Given the description of an element on the screen output the (x, y) to click on. 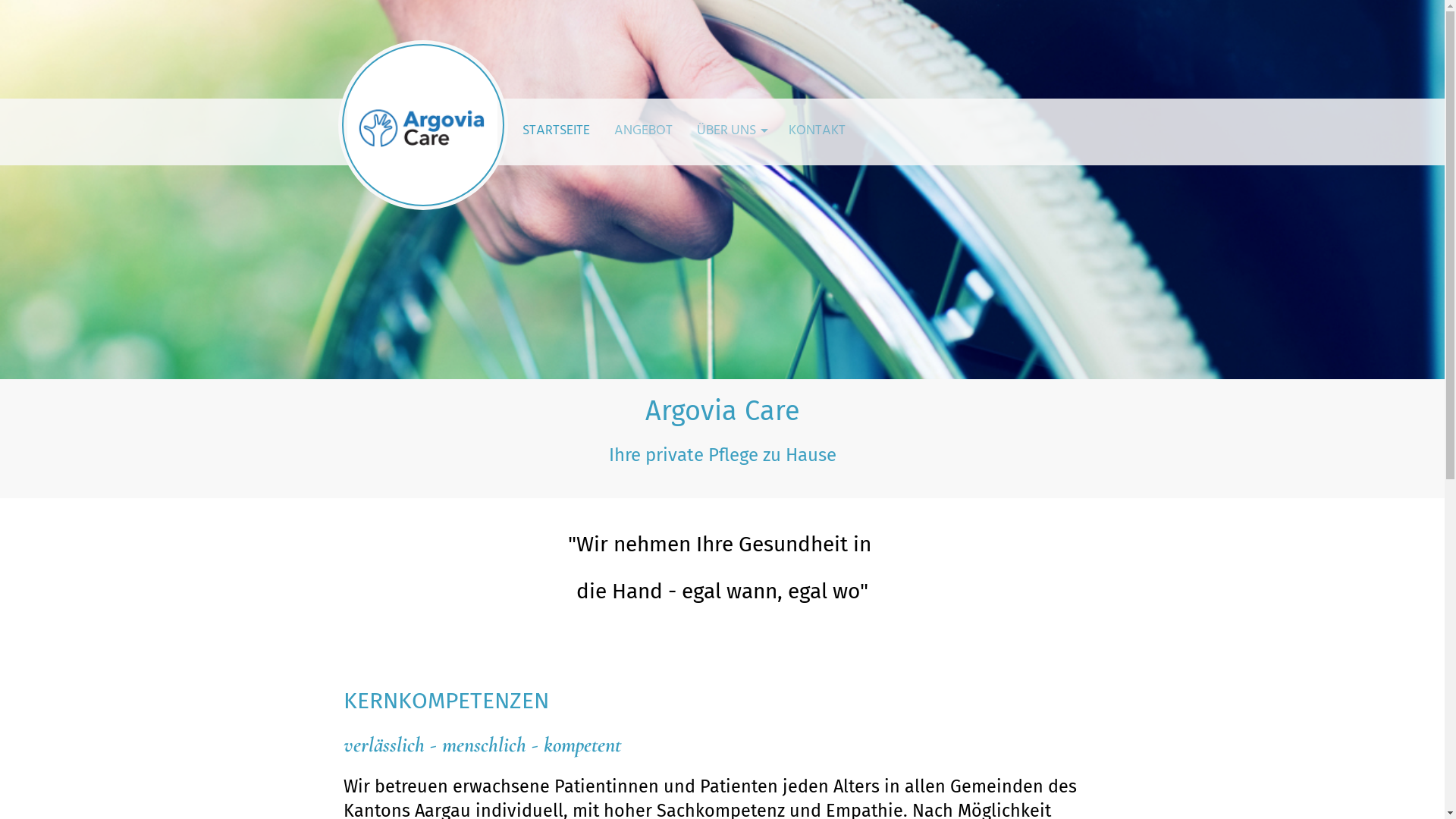
  Element type: text (422, 124)
KONTAKT Element type: text (816, 131)
STARTSEITE Element type: text (555, 131)
ANGEBOT Element type: text (643, 131)
